Given the description of an element on the screen output the (x, y) to click on. 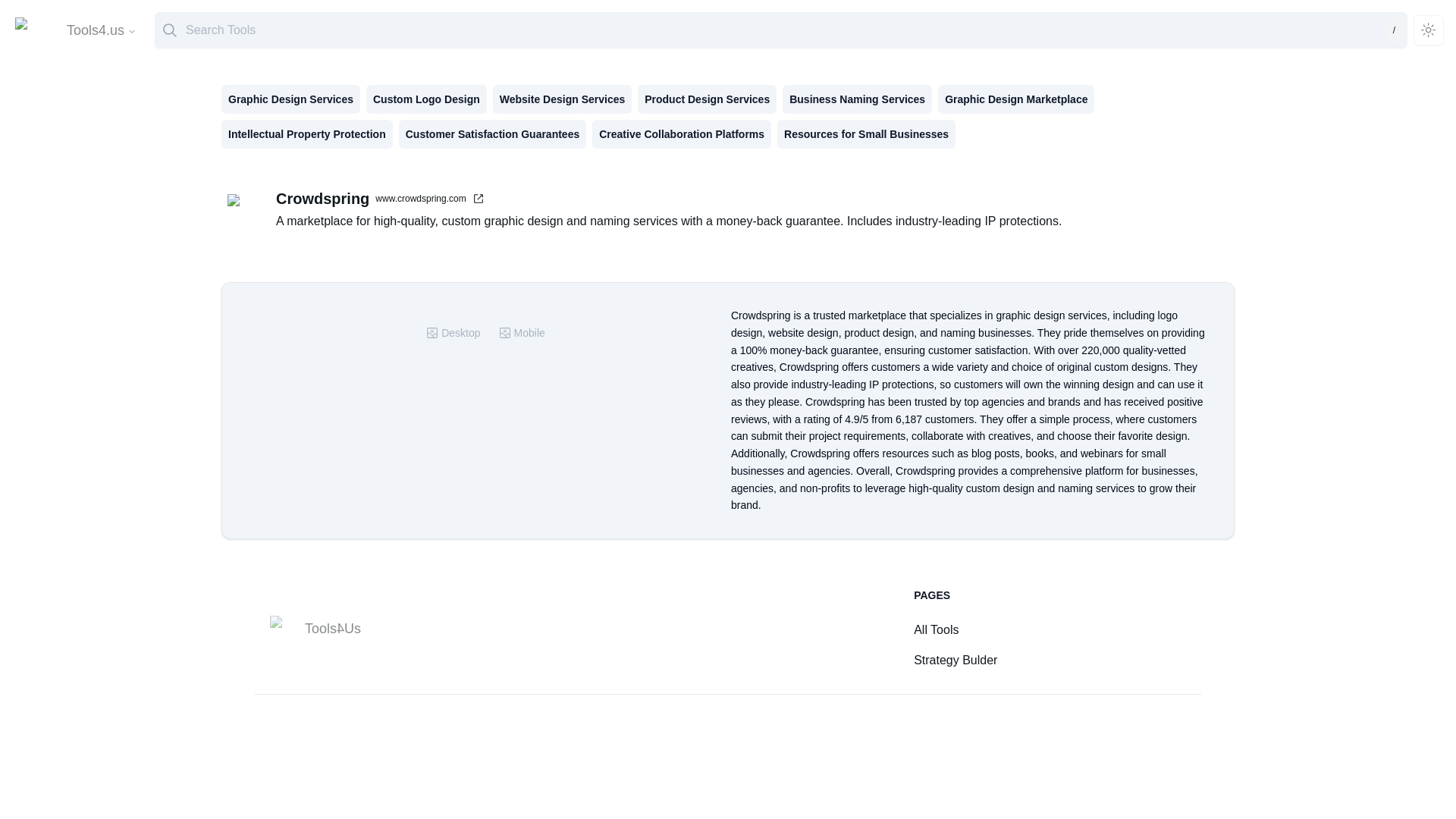
Desktop (452, 332)
Creative Collaboration Platforms (681, 133)
Intellectual Property Protection (307, 133)
Mobile (521, 332)
Tools4Us (313, 628)
Business Naming Services (857, 99)
Toggle theme (1428, 30)
Graphic Design Marketplace (1015, 99)
Tools4.us (101, 30)
Custom Logo Design (426, 99)
Graphic Design Services (290, 99)
Product Design Services (706, 99)
Customer Satisfaction Guarantees (492, 133)
Tools4Us (313, 628)
All Tools (936, 629)
